Given the description of an element on the screen output the (x, y) to click on. 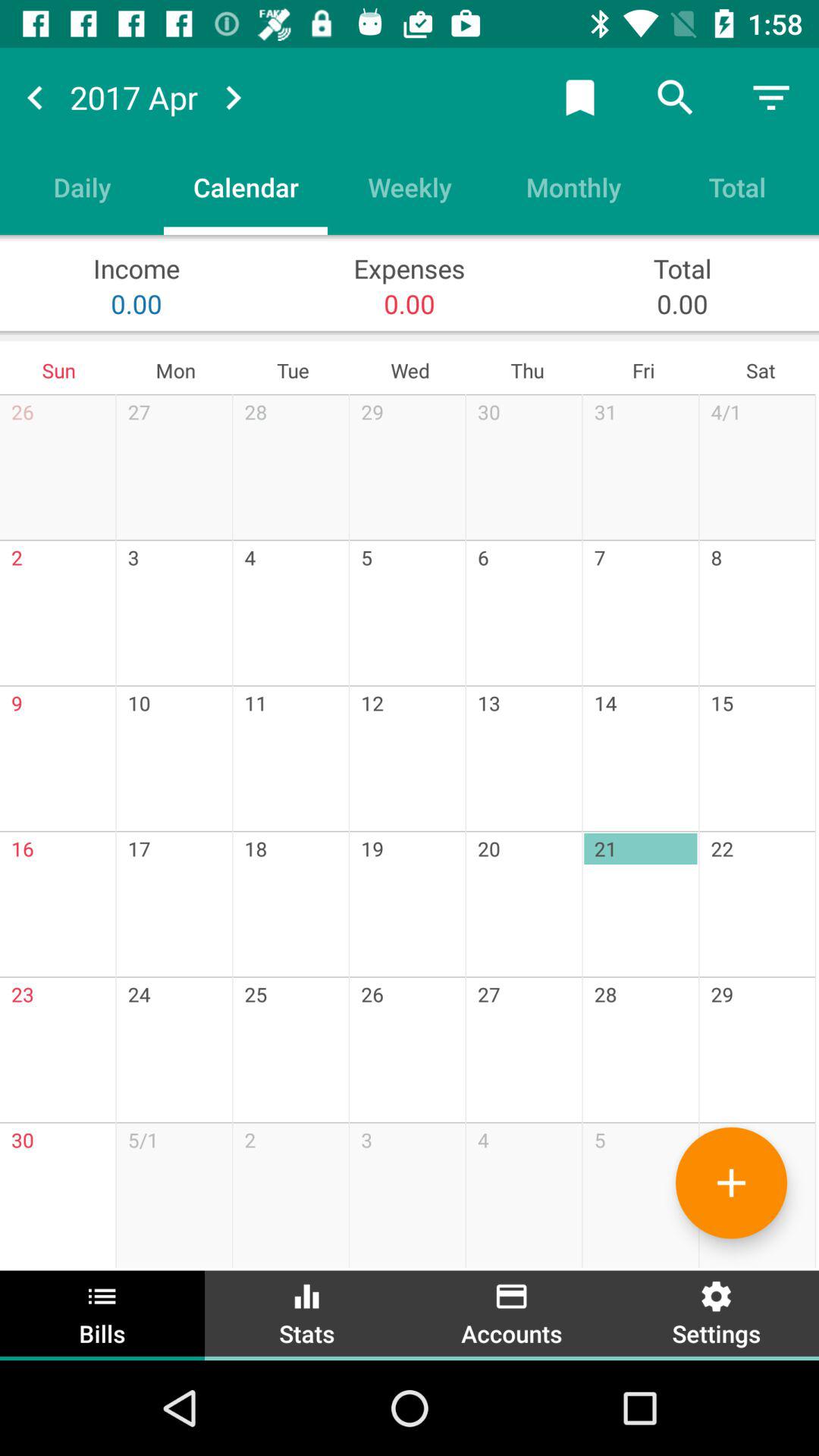
press the icon to the right of the calendar icon (409, 186)
